Given the description of an element on the screen output the (x, y) to click on. 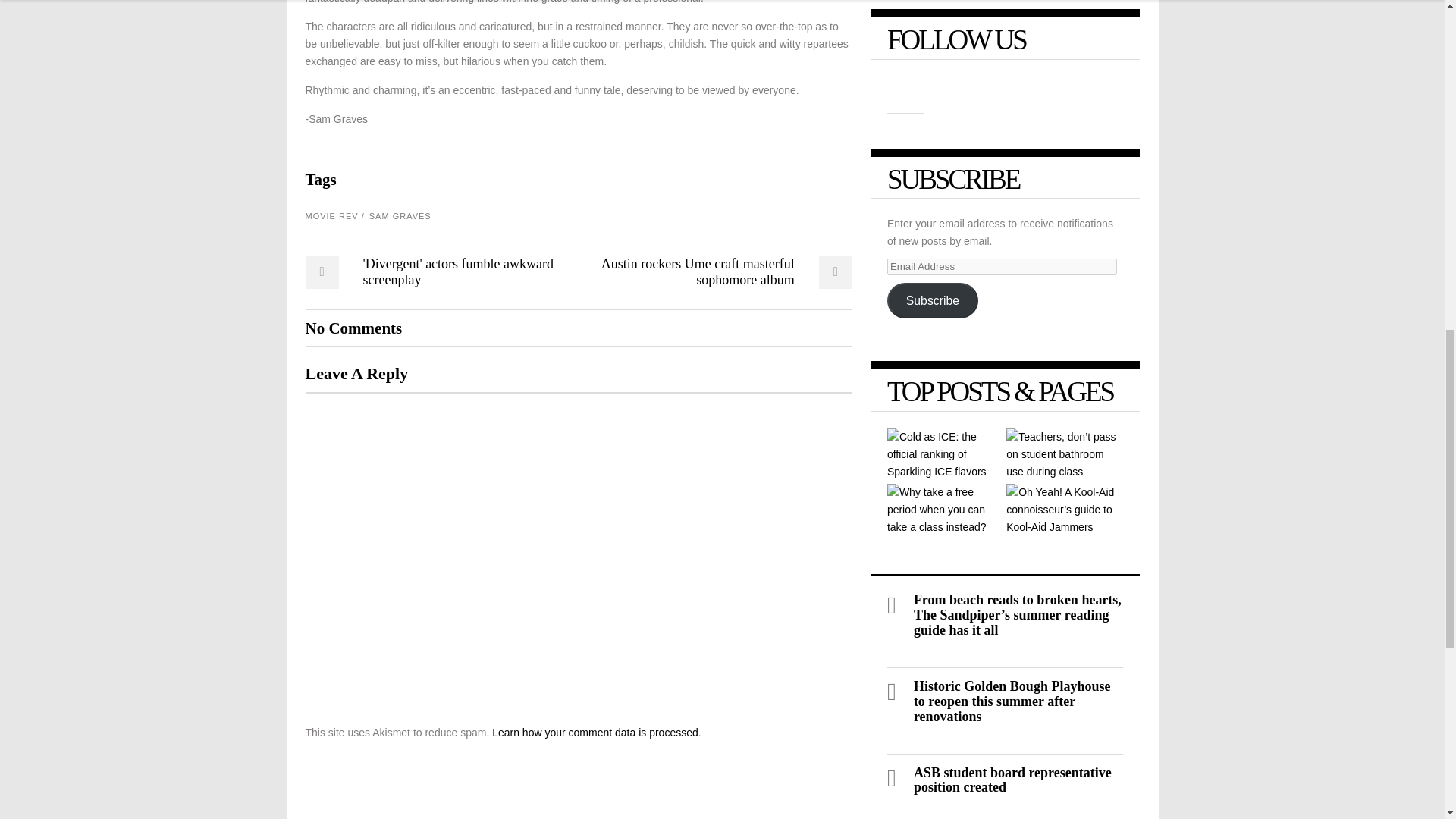
MOVIE REV (334, 216)
Why take a free period when you can take a class instead? (944, 510)
SAM GRAVES (399, 216)
Cold as ICE: the official ranking of Sparkling ICE flavors (944, 454)
